Given the description of an element on the screen output the (x, y) to click on. 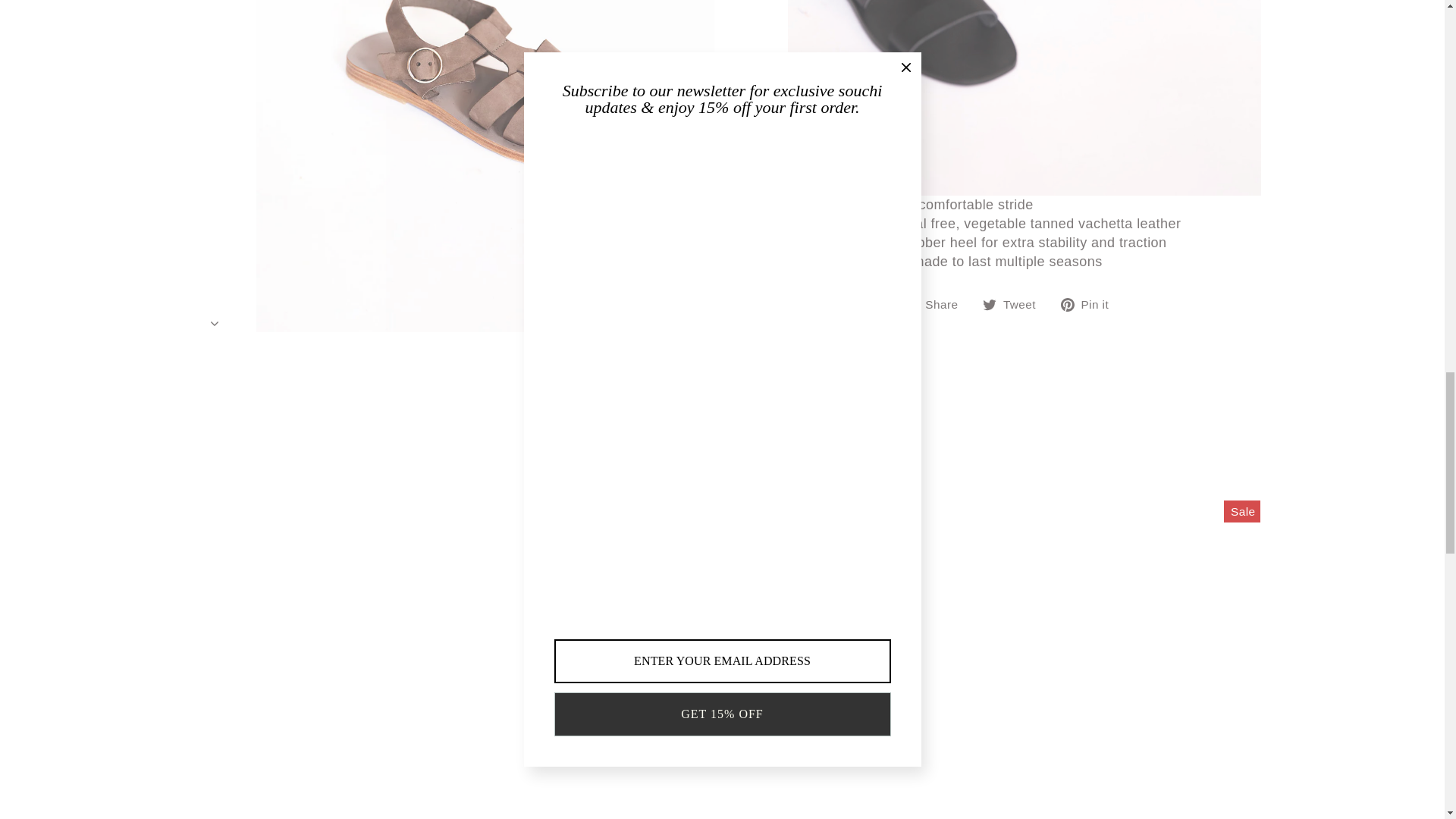
twitter (988, 305)
Pin on Pinterest (1090, 303)
Tweet on Twitter (1014, 303)
Share on Facebook (937, 303)
